Given the description of an element on the screen output the (x, y) to click on. 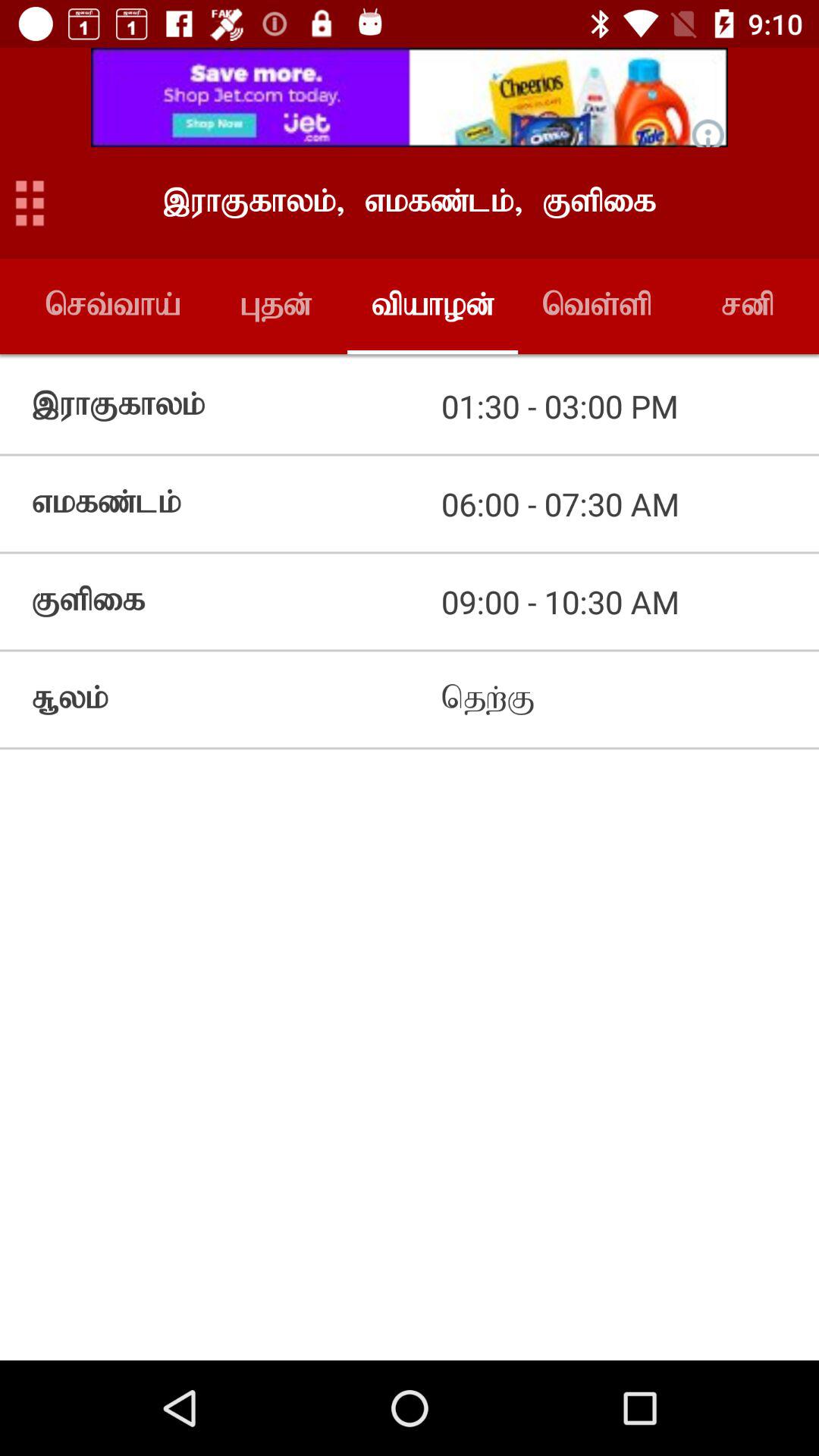
om tamil calendar-view button (29, 202)
